Given the description of an element on the screen output the (x, y) to click on. 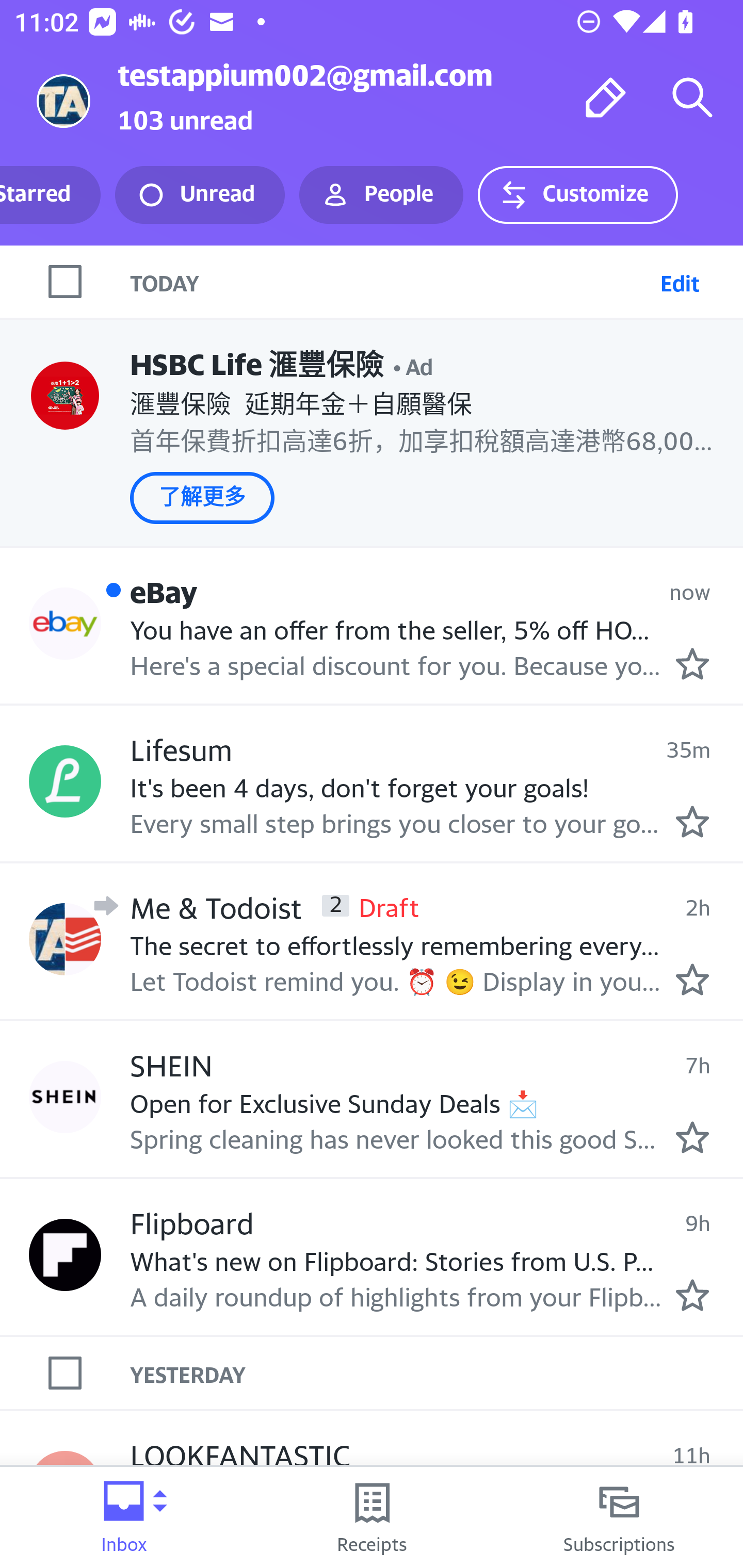
Compose (605, 97)
Search mail (692, 97)
Unread (199, 195)
People (381, 195)
Customize (577, 195)
TODAY (391, 281)
Edit Select emails (679, 281)
Profile
eBay (64, 624)
Mark as starred. (692, 664)
Profile
Lifesum (64, 780)
Mark as starred. (692, 821)
Profile
Me & Todoist (64, 939)
Mark as starred. (692, 979)
Profile
SHEIN (64, 1097)
Mark as starred. (692, 1137)
Profile
Flipboard (64, 1254)
Mark as starred. (692, 1294)
YESTERDAY (436, 1372)
Inbox Folder picker (123, 1517)
Receipts (371, 1517)
Subscriptions (619, 1517)
